Given the description of an element on the screen output the (x, y) to click on. 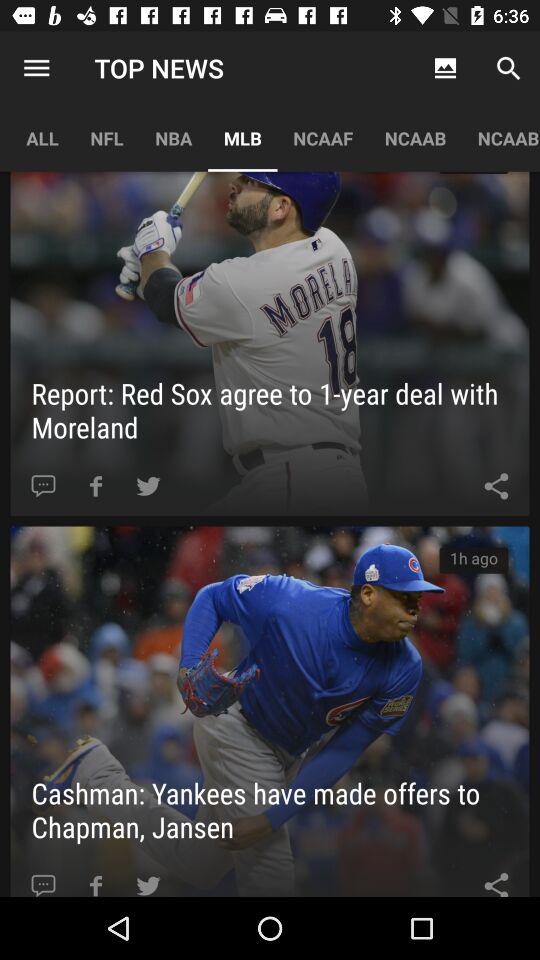
choose app to the right of ncaab app (500, 138)
